Given the description of an element on the screen output the (x, y) to click on. 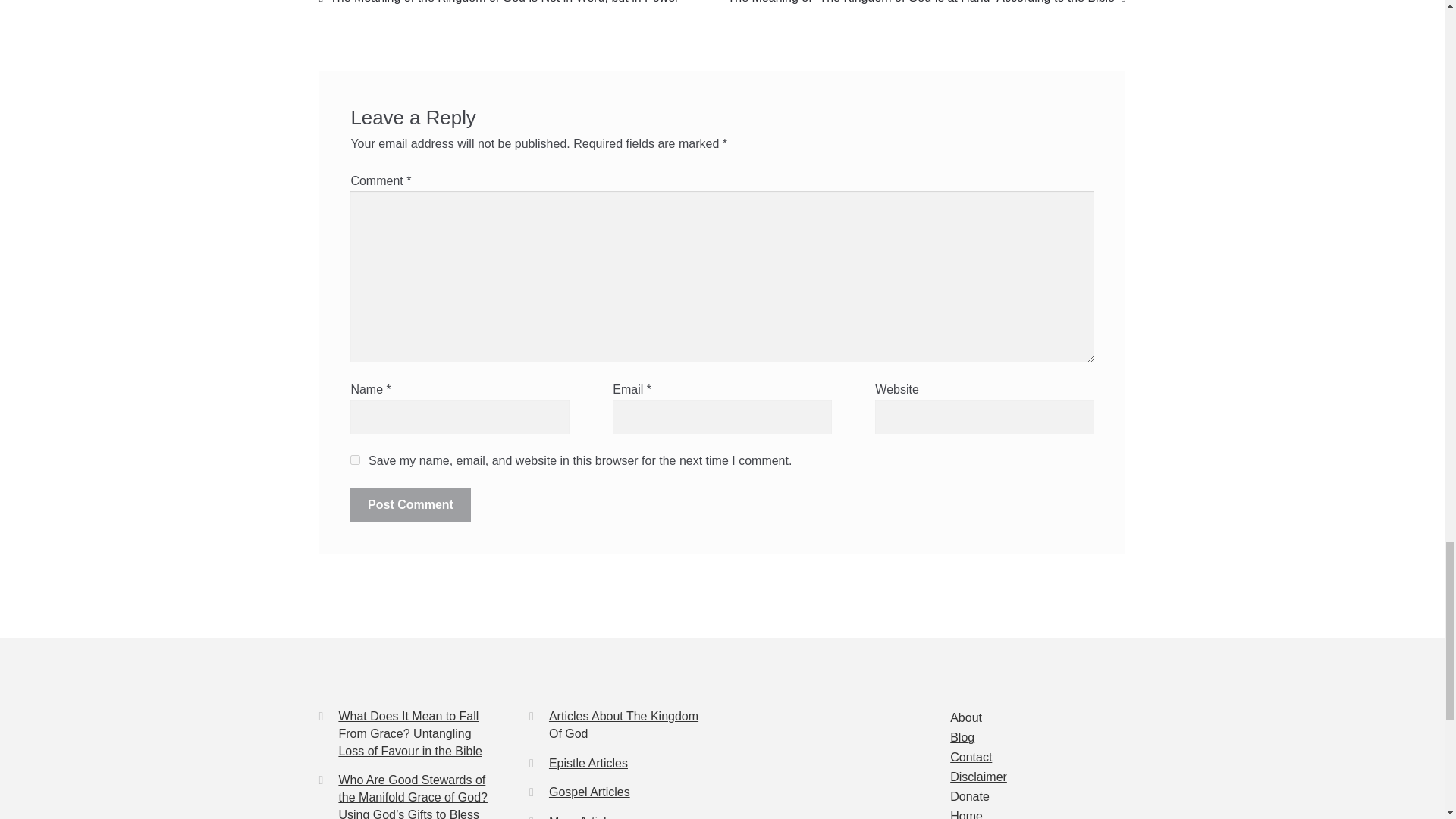
yes (354, 460)
Post Comment (410, 505)
Post Comment (410, 505)
